Given the description of an element on the screen output the (x, y) to click on. 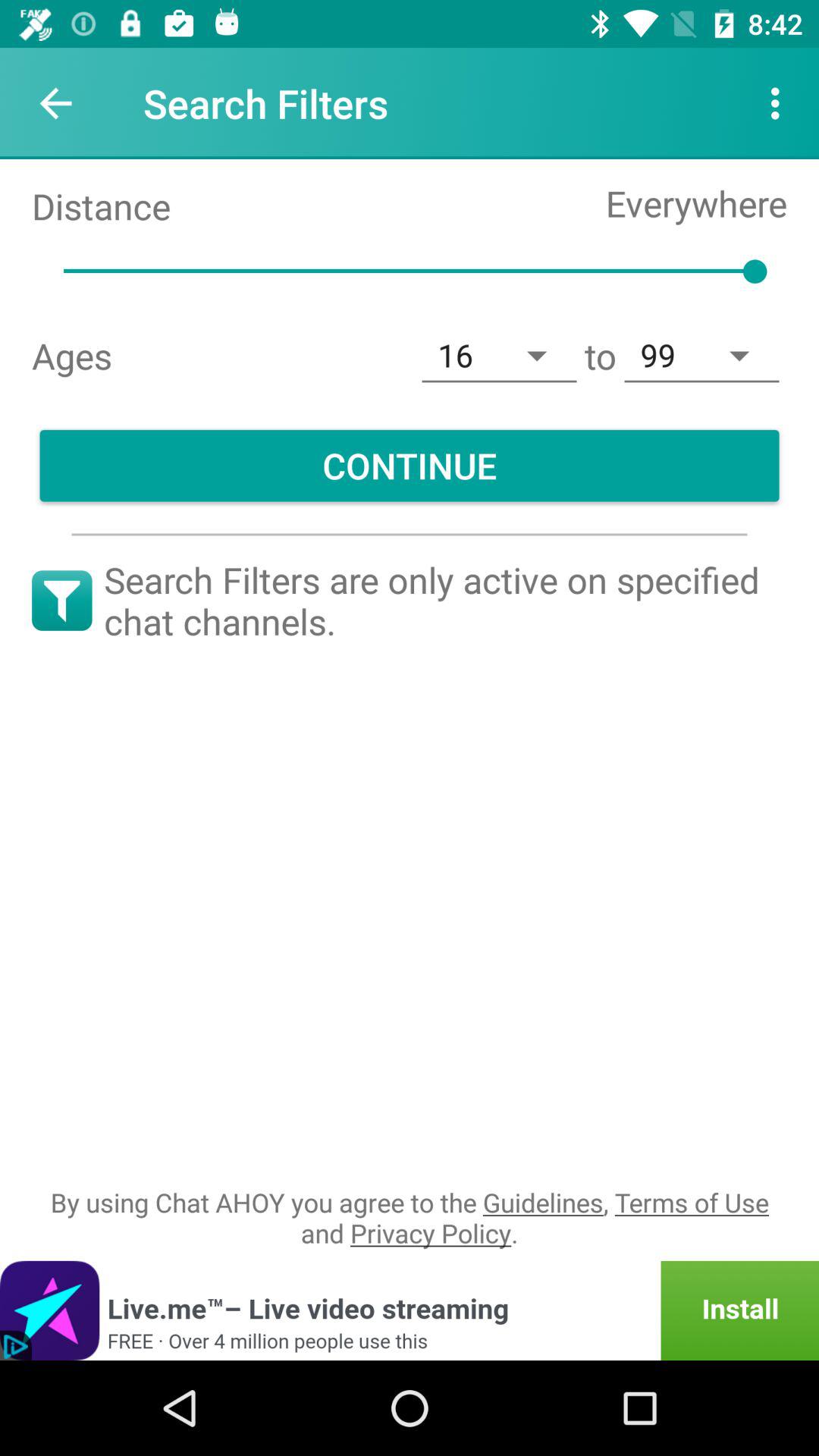
tap item below the search filters are (409, 1217)
